Given the description of an element on the screen output the (x, y) to click on. 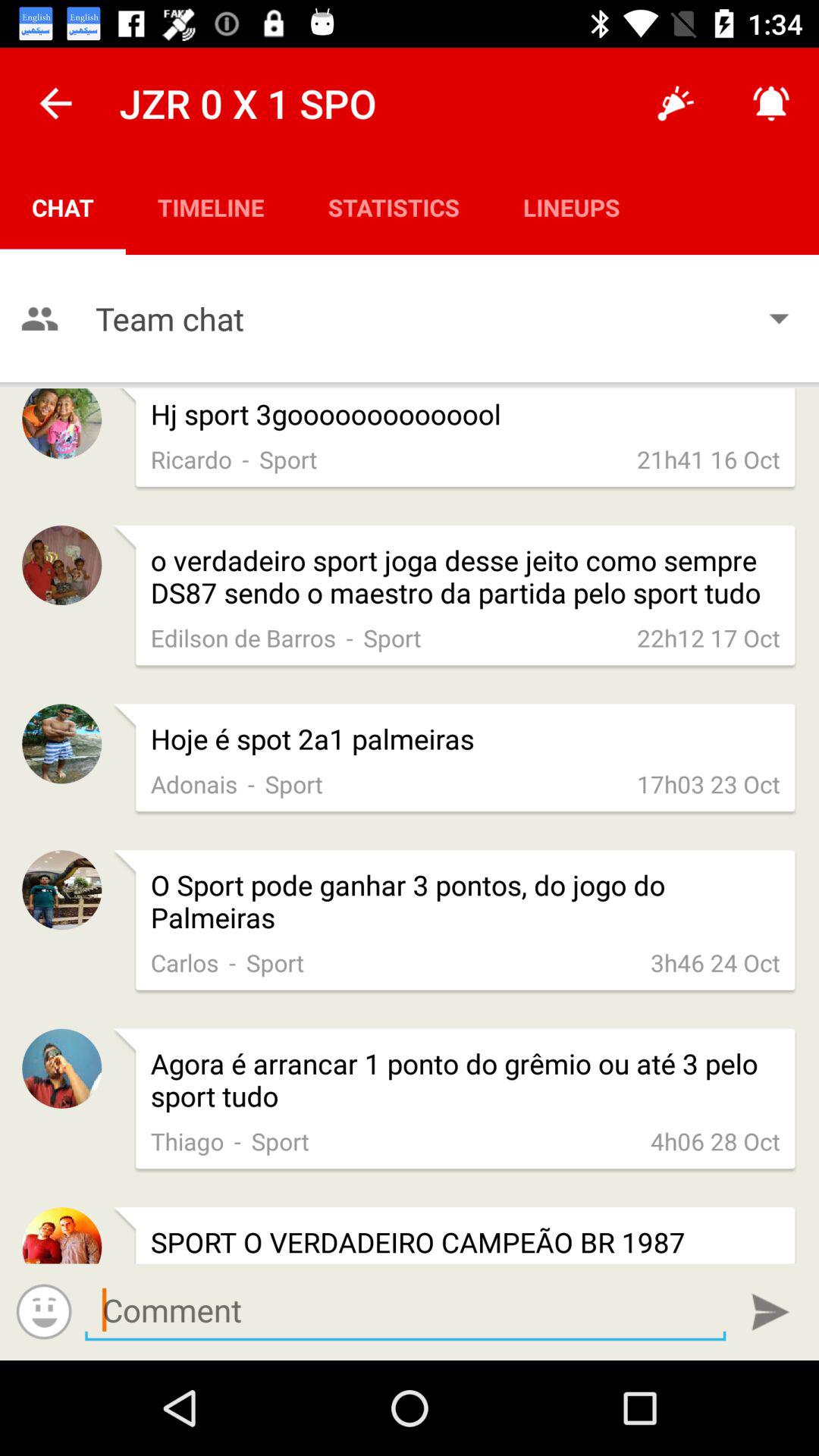
open the item above o sport pode (250, 783)
